Given the description of an element on the screen output the (x, y) to click on. 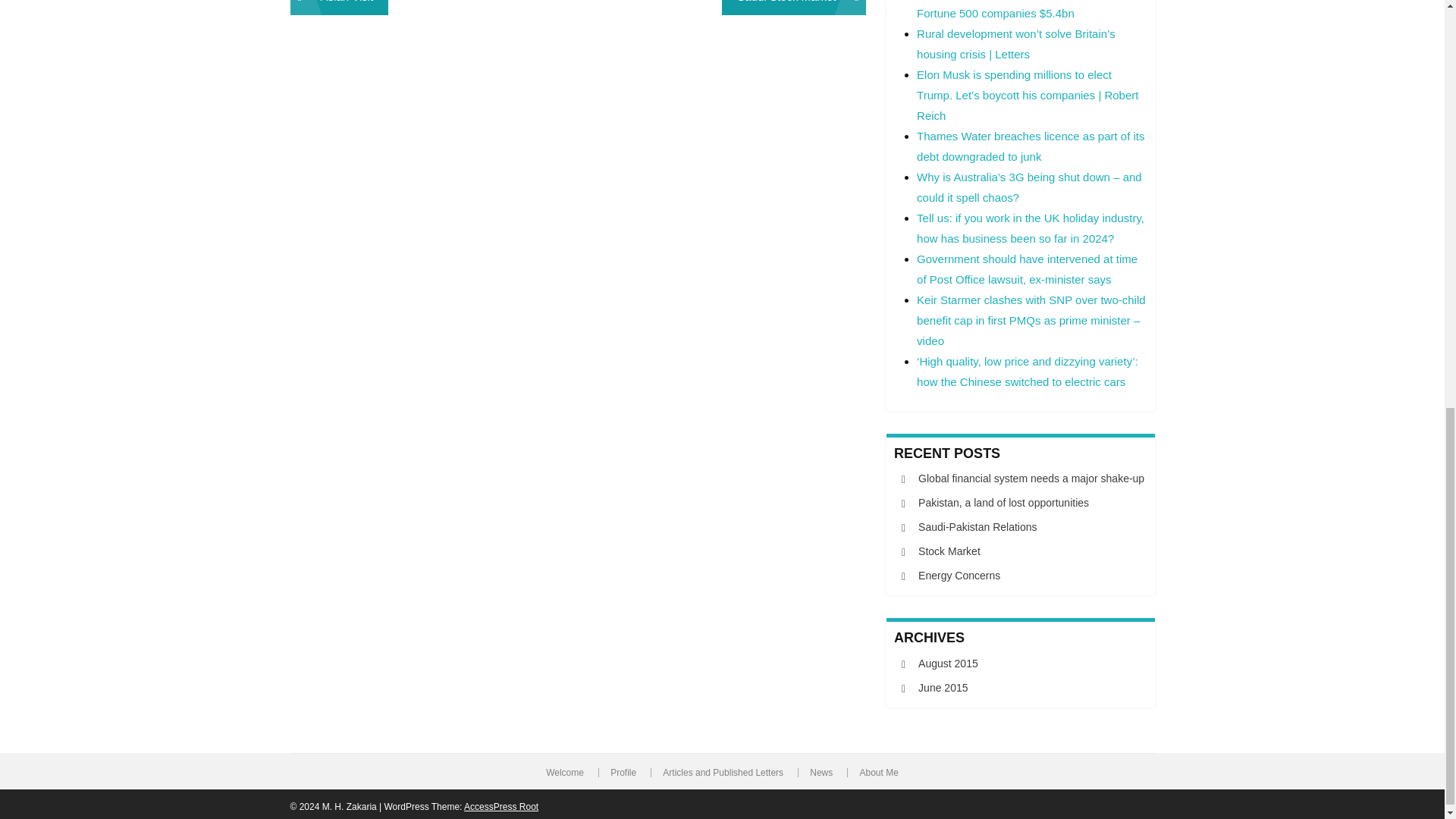
Asian Visit (338, 7)
Saudi Stock Market (794, 7)
AccessPress Themes (501, 806)
